Given the description of an element on the screen output the (x, y) to click on. 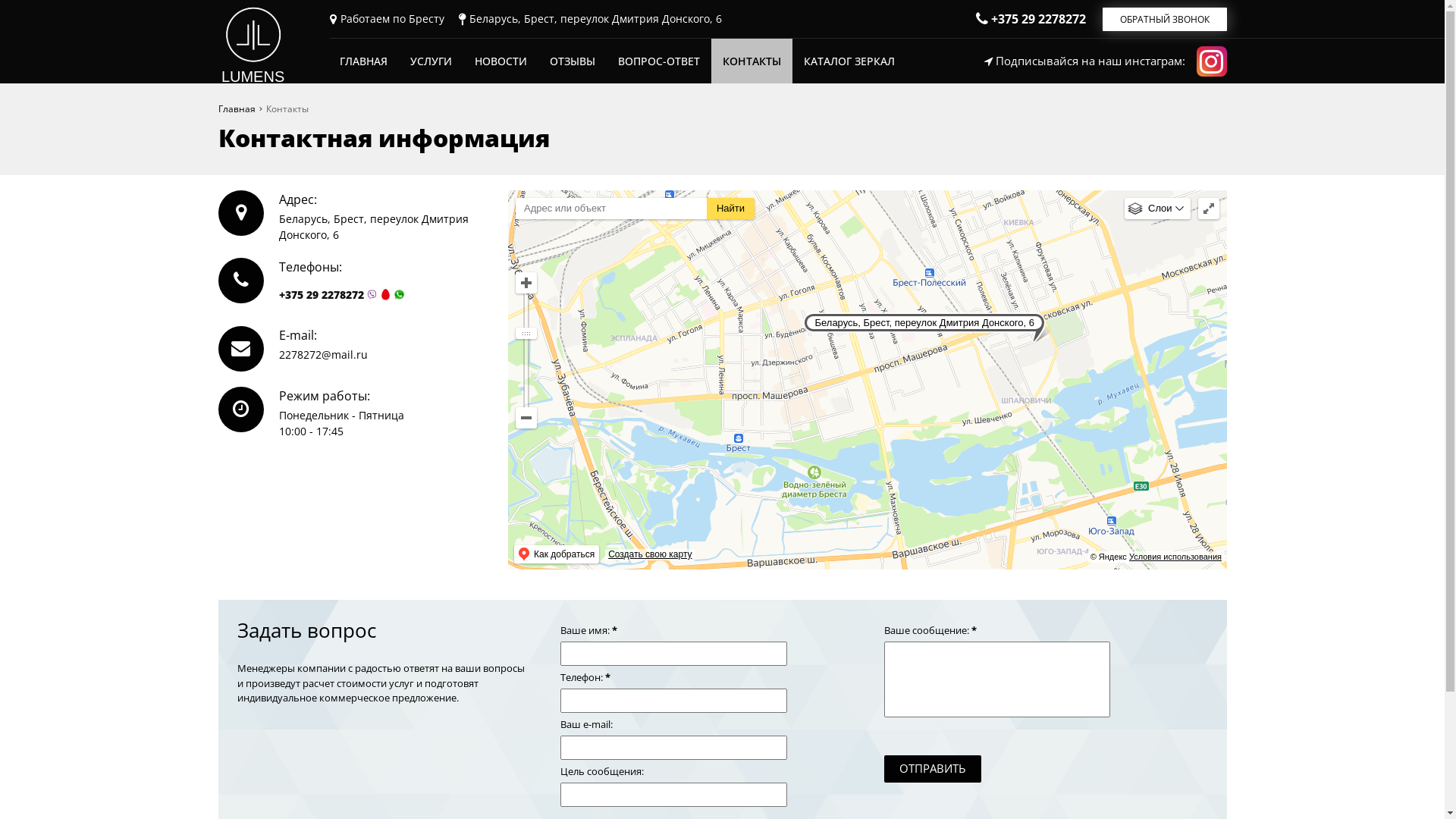
LUMENS Element type: text (253, 42)
+375 29 2278272 Element type: text (321, 294)
2278272@mail.ru Element type: text (323, 354)
